Given the description of an element on the screen output the (x, y) to click on. 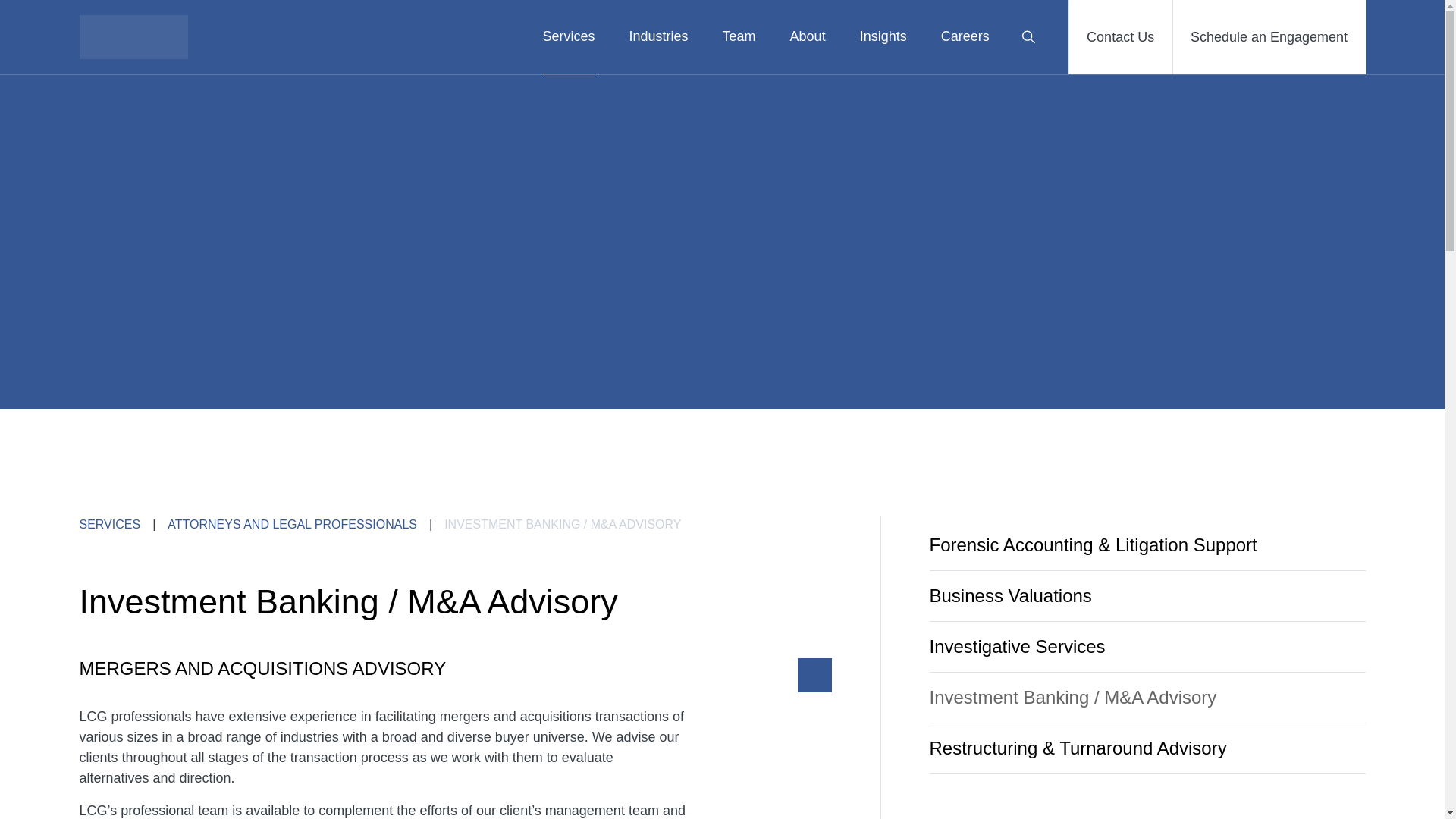
Contact Us (1120, 37)
Schedule an Engagement (1268, 37)
